Given the description of an element on the screen output the (x, y) to click on. 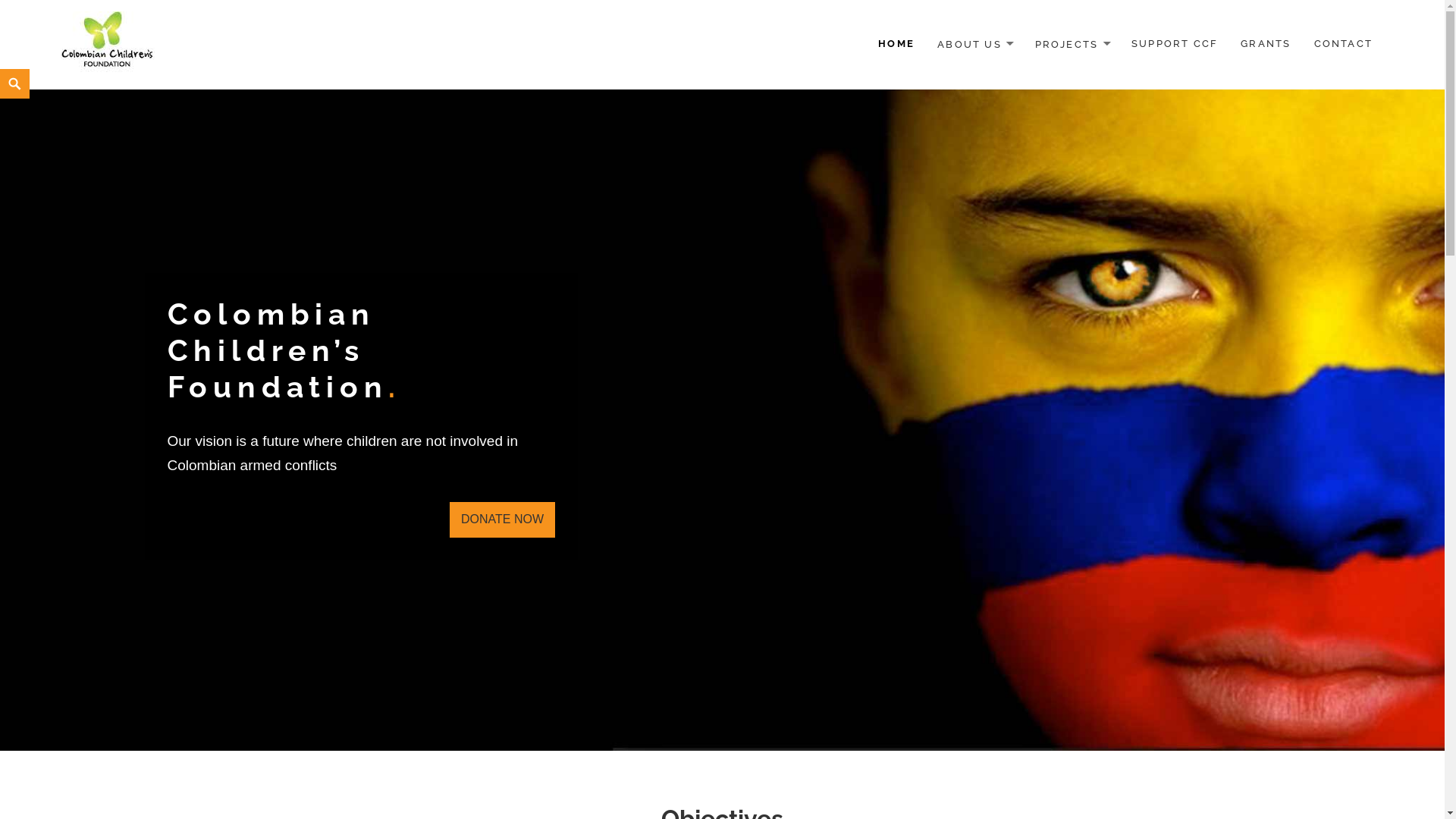
Colombian Childrens Foundation Element type: hover (107, 43)
SUPPORT CCF Element type: text (1174, 43)
Search Element type: text (3, 69)
CONTACT Element type: text (1342, 43)
ABOUT US Element type: text (973, 44)
HOME Element type: text (895, 43)
DONATE NOW Element type: text (502, 519)
GRANTS Element type: text (1265, 43)
Skip to content Element type: text (0, 68)
PROJECTS Element type: text (1071, 44)
